Given the description of an element on the screen output the (x, y) to click on. 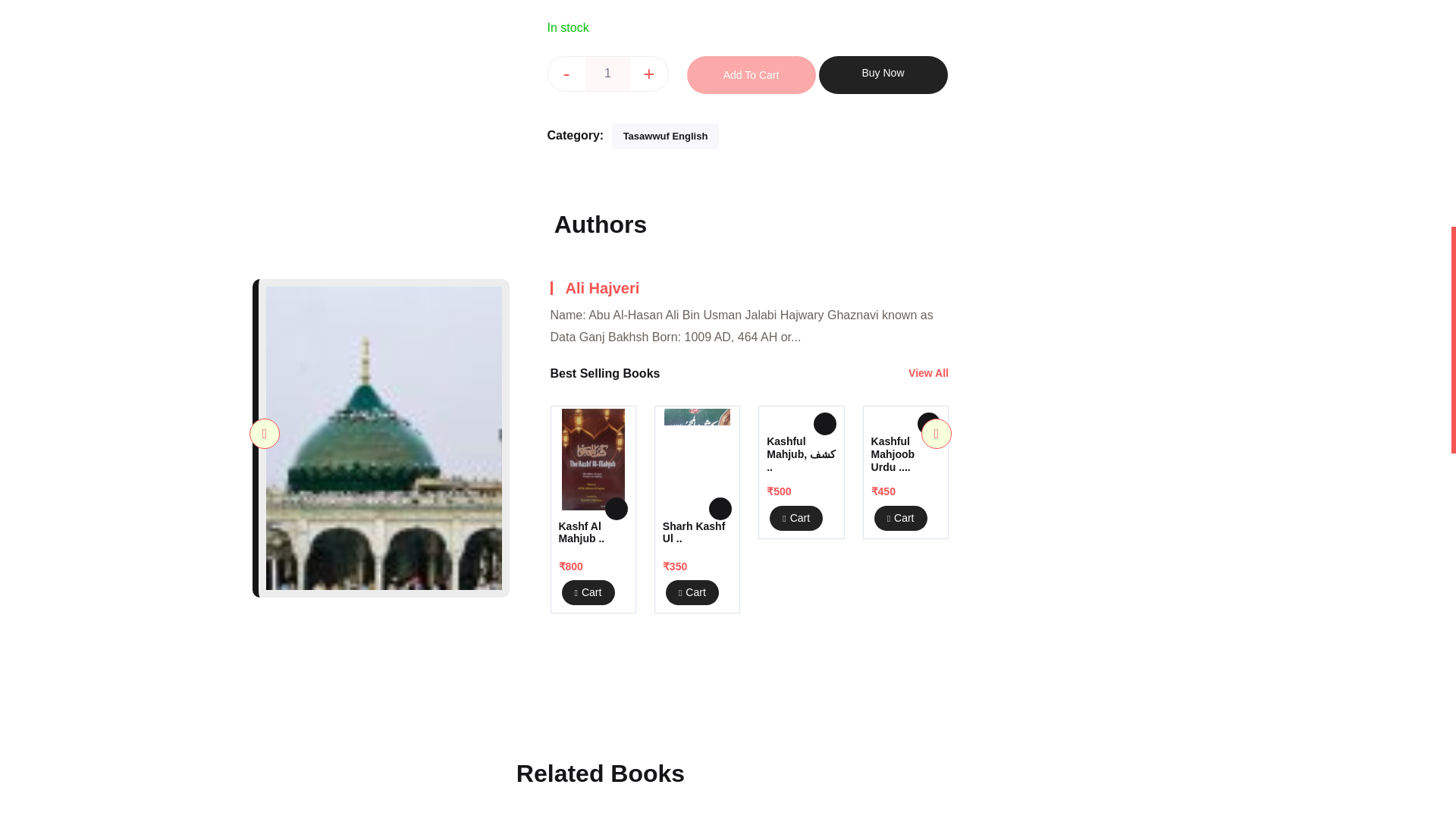
1 (607, 73)
Increase (648, 73)
Qty (607, 73)
Decrease (566, 73)
